Given the description of an element on the screen output the (x, y) to click on. 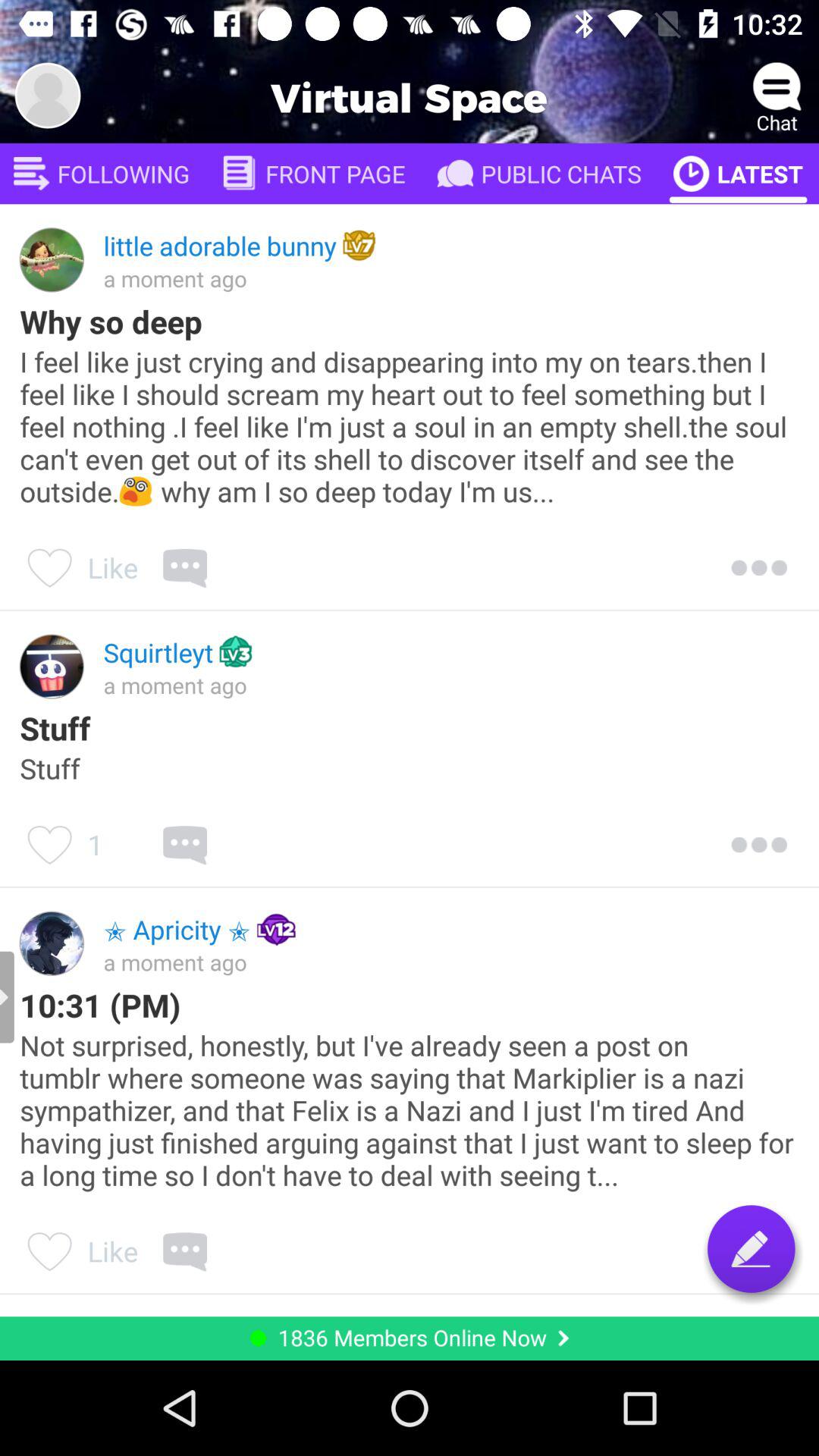
add photo (47, 95)
